Given the description of an element on the screen output the (x, y) to click on. 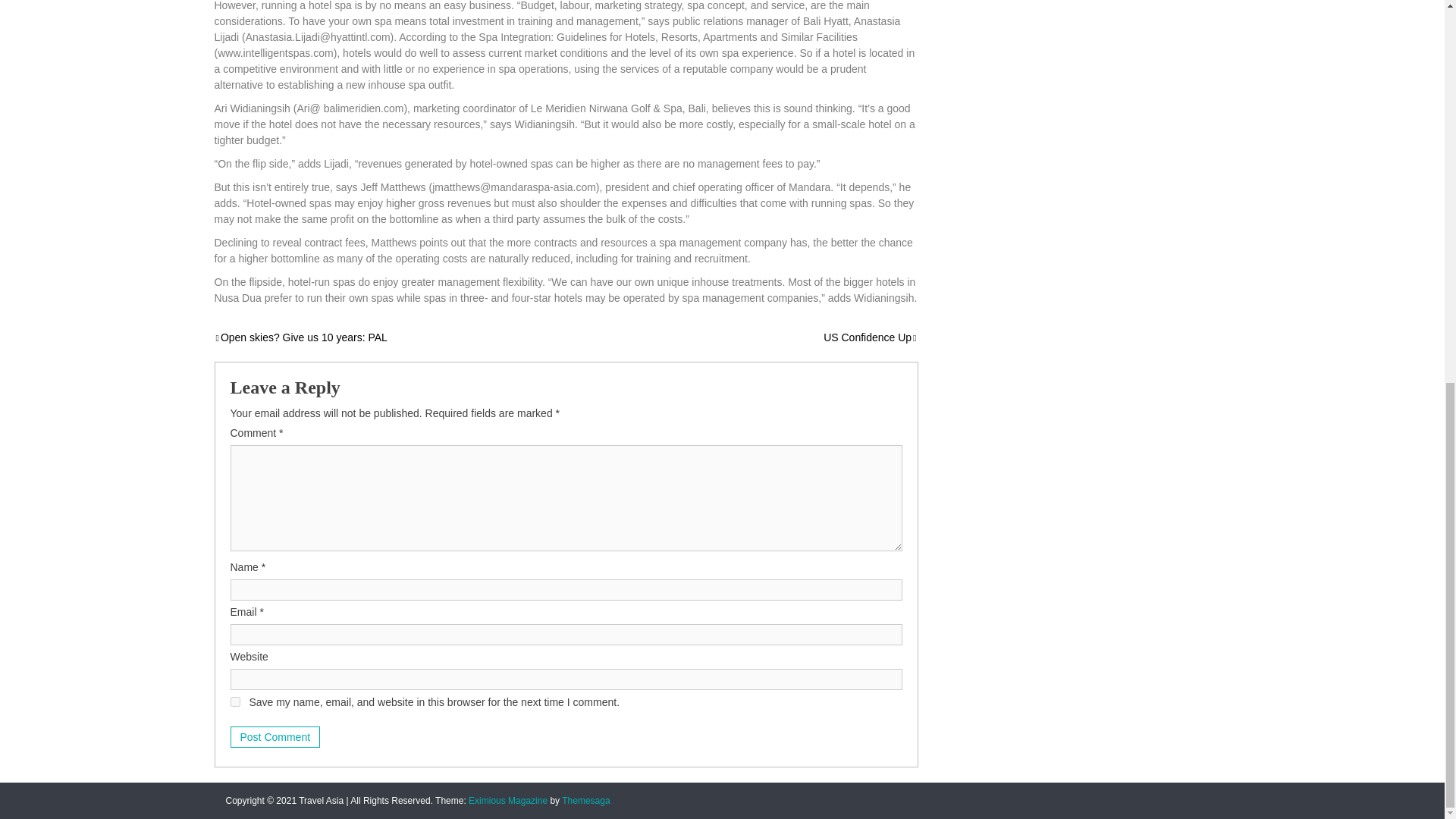
Themesaga (586, 800)
Post Comment (275, 736)
Post Comment (275, 736)
yes (235, 701)
Eximious Magazine (507, 800)
US Confidence Up (870, 337)
Open skies? Give us 10 years: PAL (300, 337)
